Given the description of an element on the screen output the (x, y) to click on. 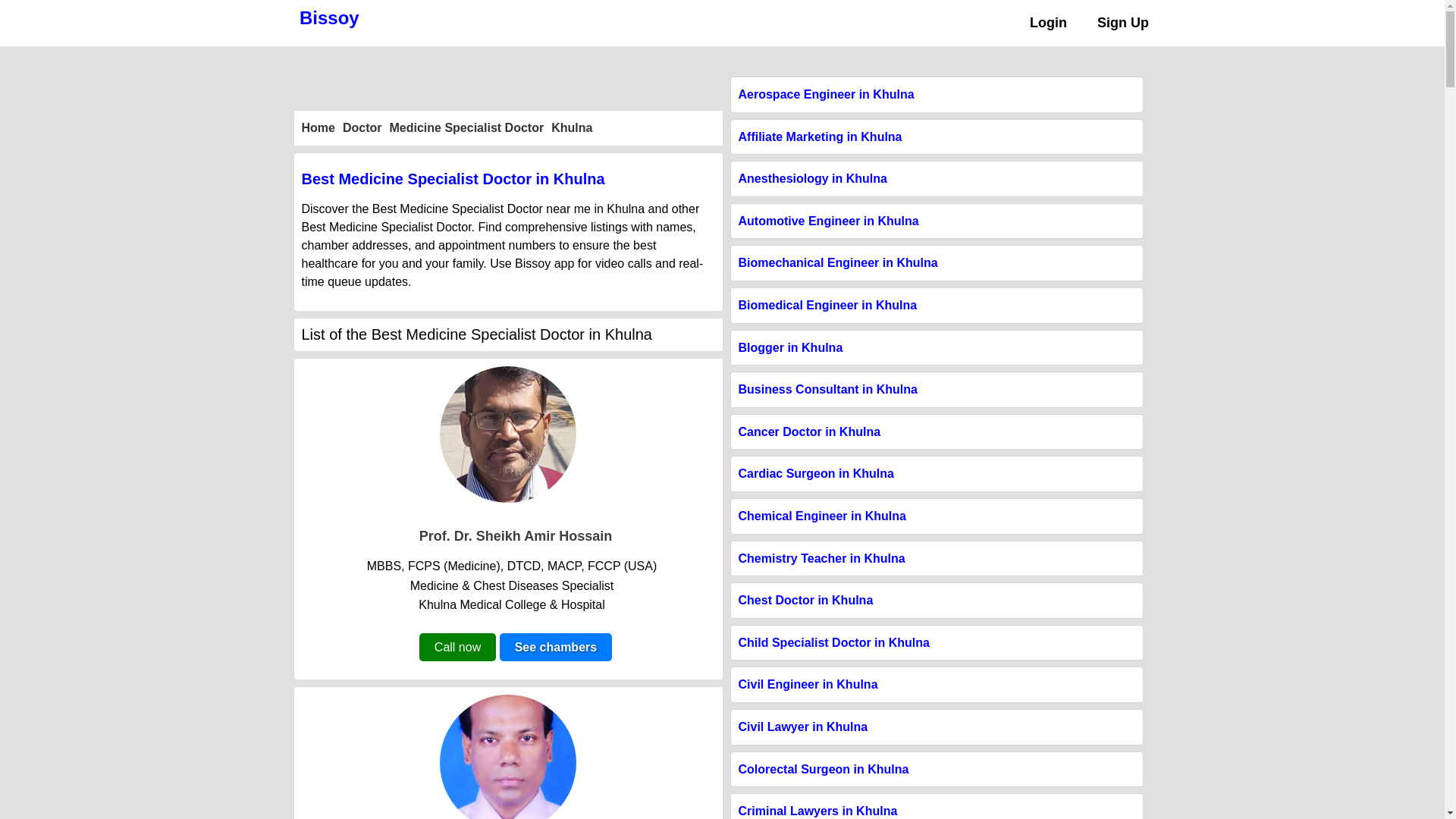
Sign Up (1122, 22)
See chambers (555, 646)
Doctor (361, 127)
Khulna (571, 127)
Medicine Specialist Doctor (467, 127)
Best Medicine Specialist Doctor in Khulna (507, 179)
Prof. Dr. Sheikh Amir Hossain (515, 535)
Home (317, 127)
Bissoy (329, 17)
Login (1048, 22)
